Given the description of an element on the screen output the (x, y) to click on. 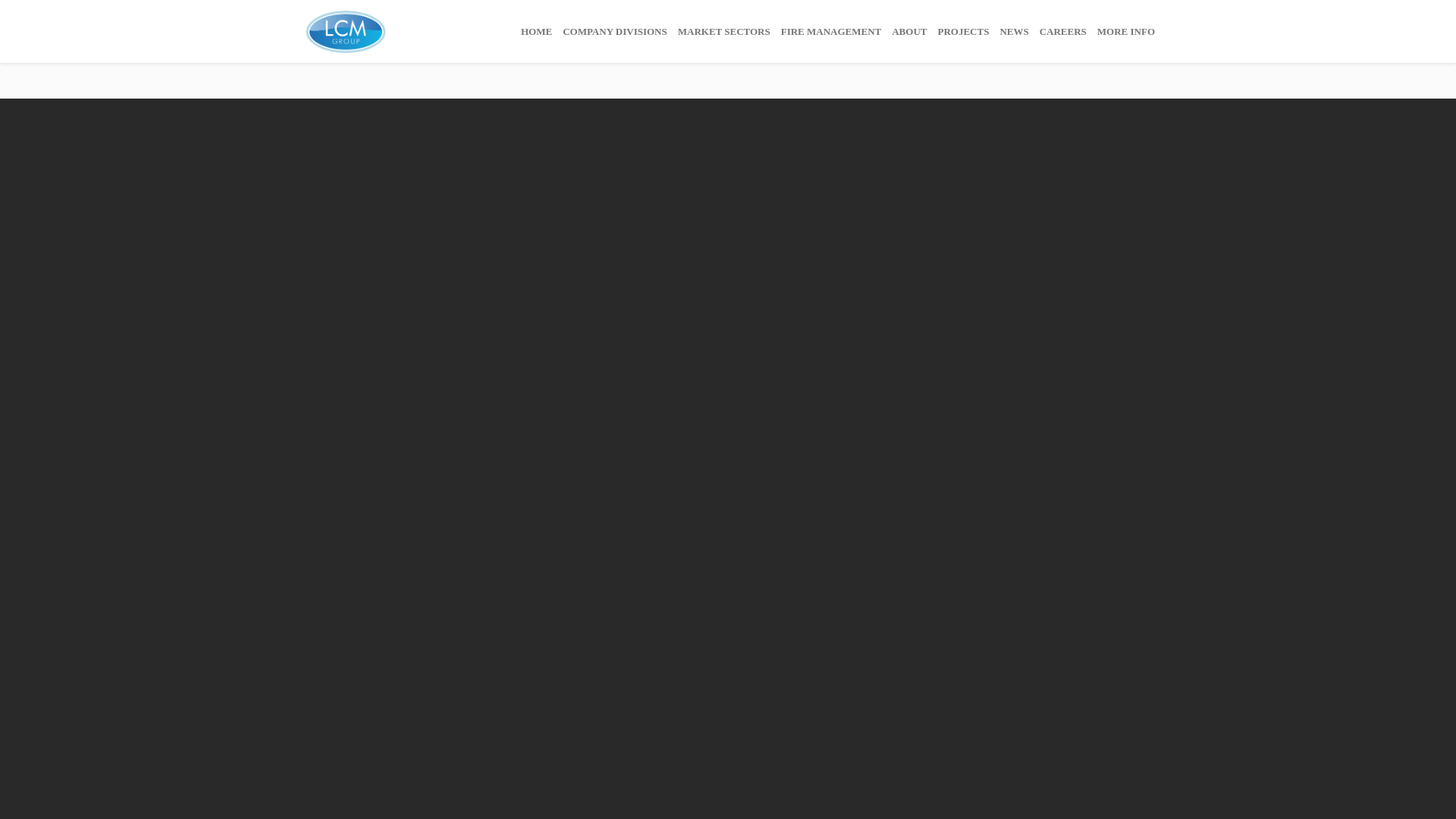
CAREERS (1062, 31)
MORE INFO (1126, 31)
COMPANY DIVISIONS (614, 31)
FIRE MANAGEMENT (831, 31)
MARKET SECTORS (724, 31)
PROJECTS (962, 31)
